Given the description of an element on the screen output the (x, y) to click on. 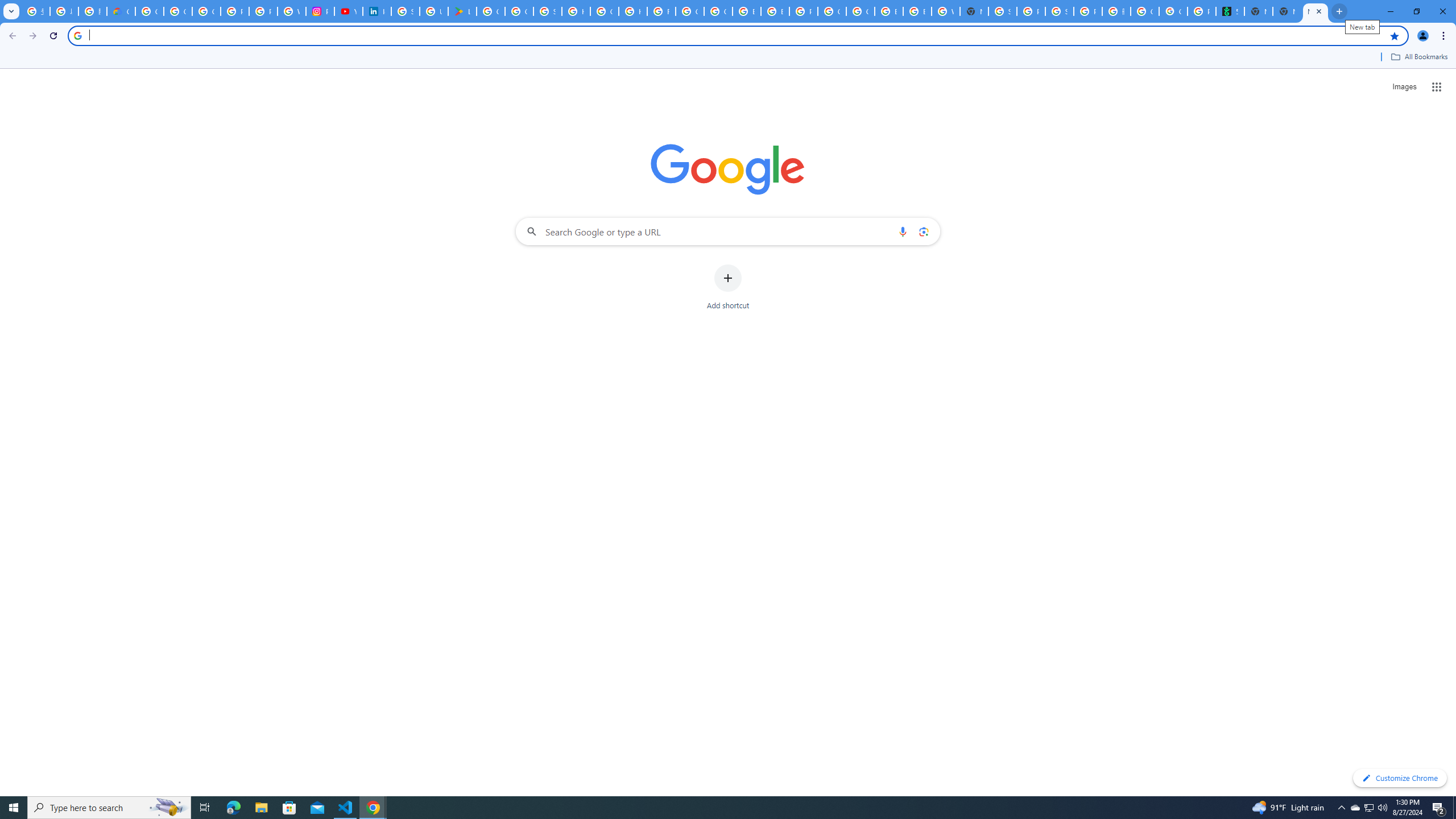
Privacy Help Center - Policies Help (263, 11)
Sign in - Google Accounts (1002, 11)
